Given the description of an element on the screen output the (x, y) to click on. 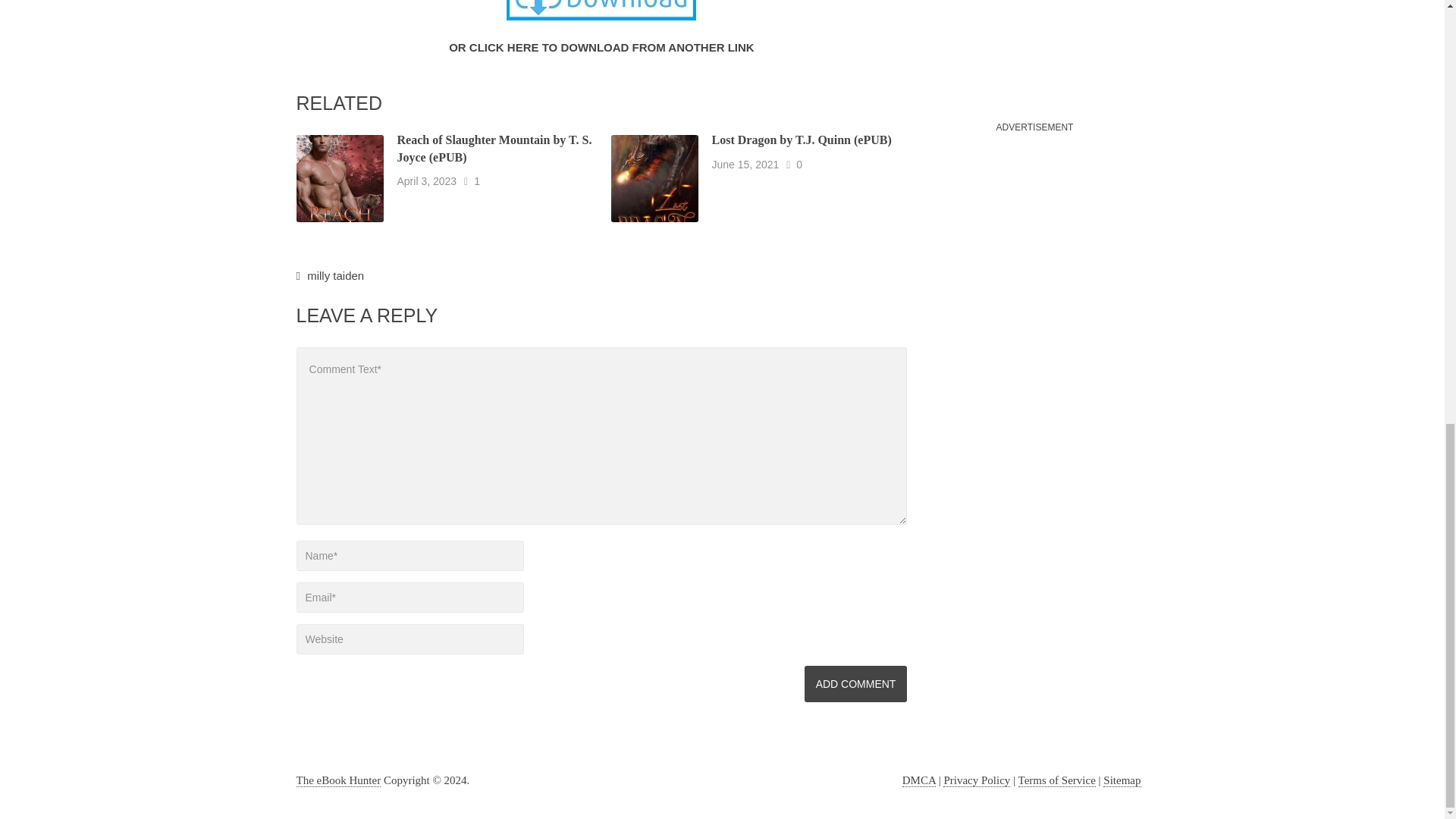
Add Comment (856, 683)
OR CLICK HERE TO DOWNLOAD FROM ANOTHER LINK (601, 46)
Add Comment (856, 683)
milly taiden (335, 275)
